Given the description of an element on the screen output the (x, y) to click on. 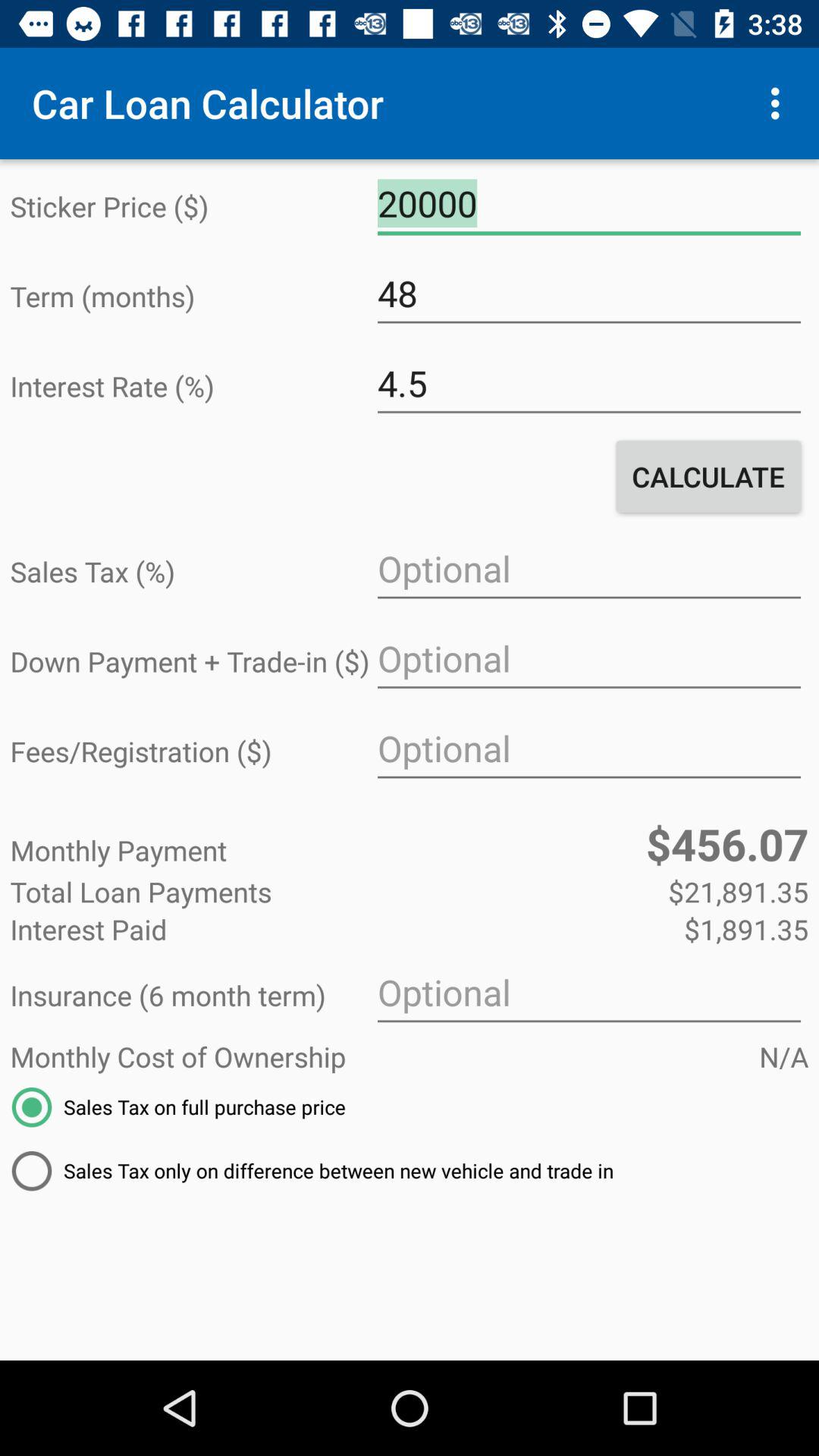
select 4.5 (588, 383)
